Given the description of an element on the screen output the (x, y) to click on. 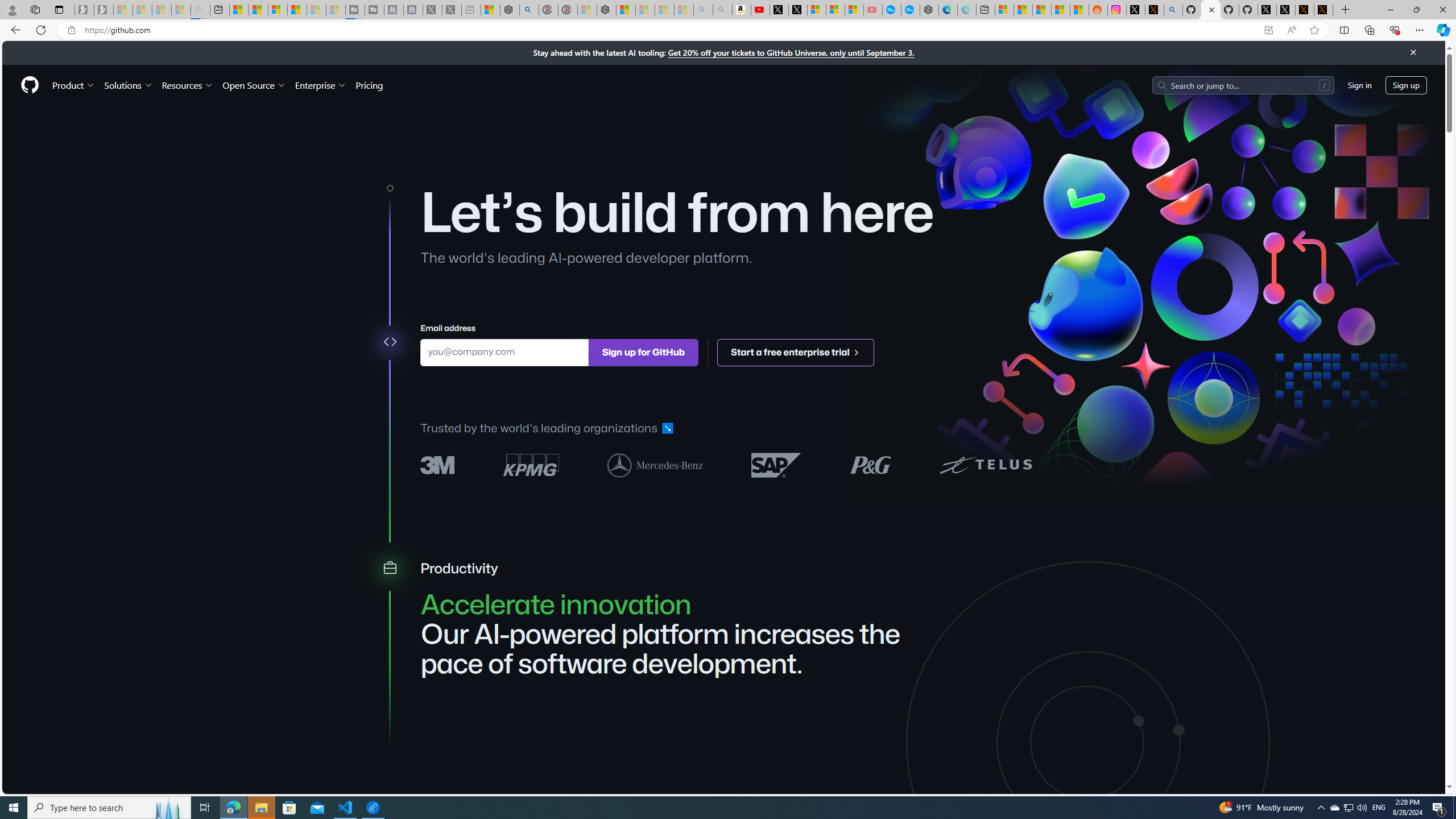
Resources (187, 84)
Class: octicon arrow-symbol-mktg (855, 352)
Gloom - YouTube - Sleeping (872, 9)
Nordace - Nordace Siena Is Not An Ordinary Backpack (606, 9)
Product (74, 84)
